Given the description of an element on the screen output the (x, y) to click on. 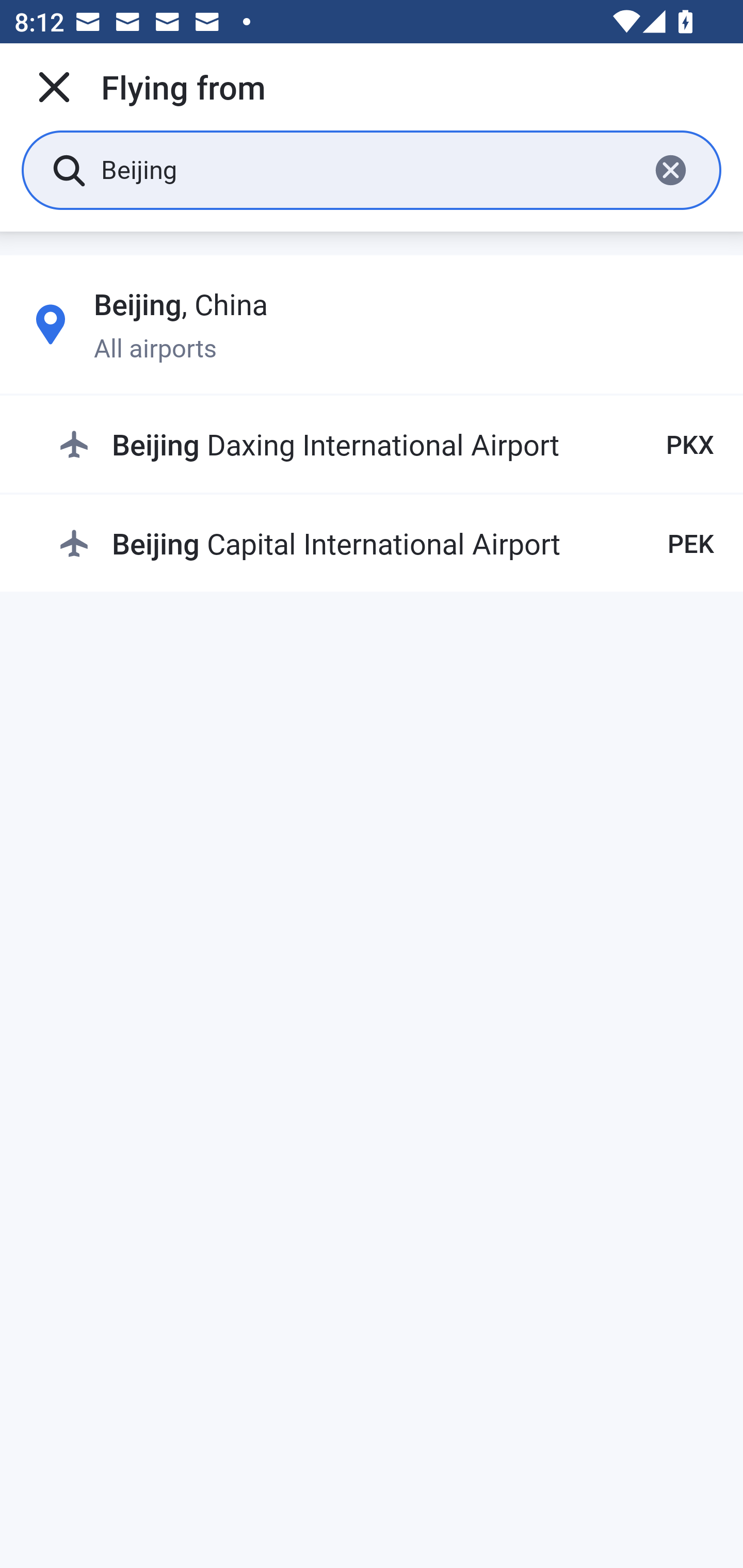
Beijing (367, 169)
Beijing, China All airports (371, 324)
Beijing Daxing International Airport PKX (385, 444)
Beijing Capital International Airport PEK (385, 543)
